Given the description of an element on the screen output the (x, y) to click on. 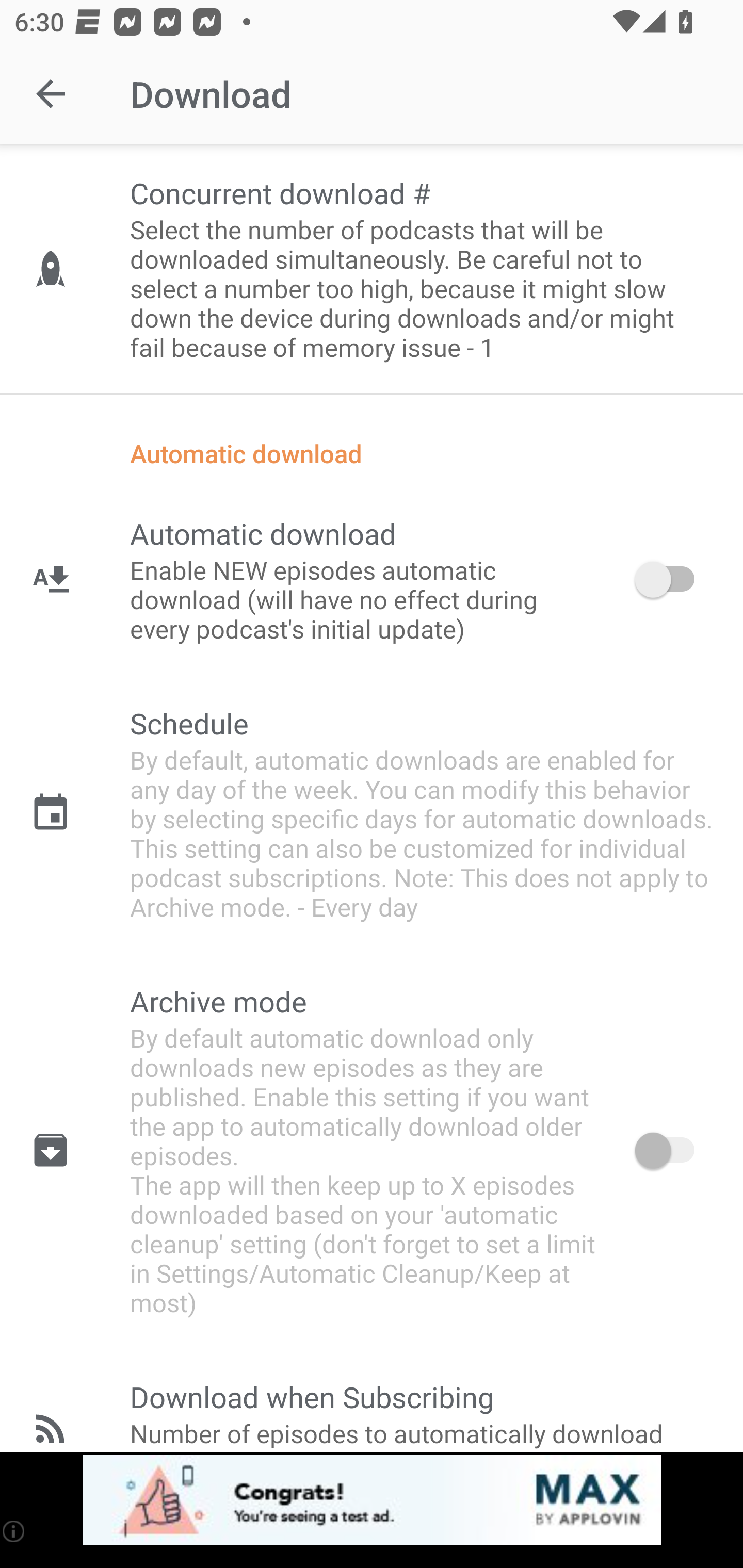
Navigate up (50, 93)
app-monetization (371, 1500)
(i) (14, 1531)
